Given the description of an element on the screen output the (x, y) to click on. 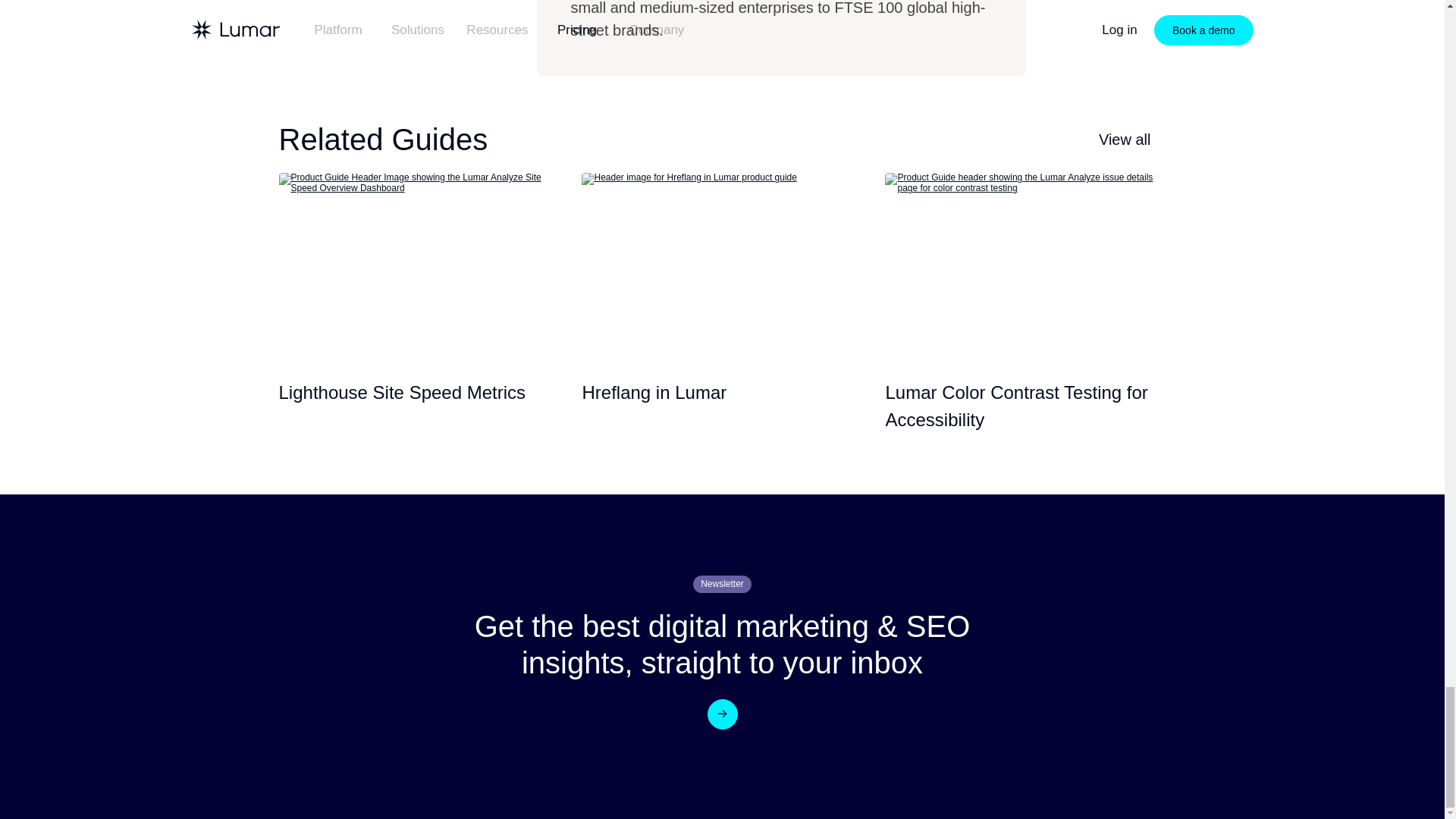
Lighthouse Site Speed Metrics (419, 263)
Lumar Color Contrast Testing for Accessibility (1025, 263)
Hreflang in Lumar (720, 263)
